Given the description of an element on the screen output the (x, y) to click on. 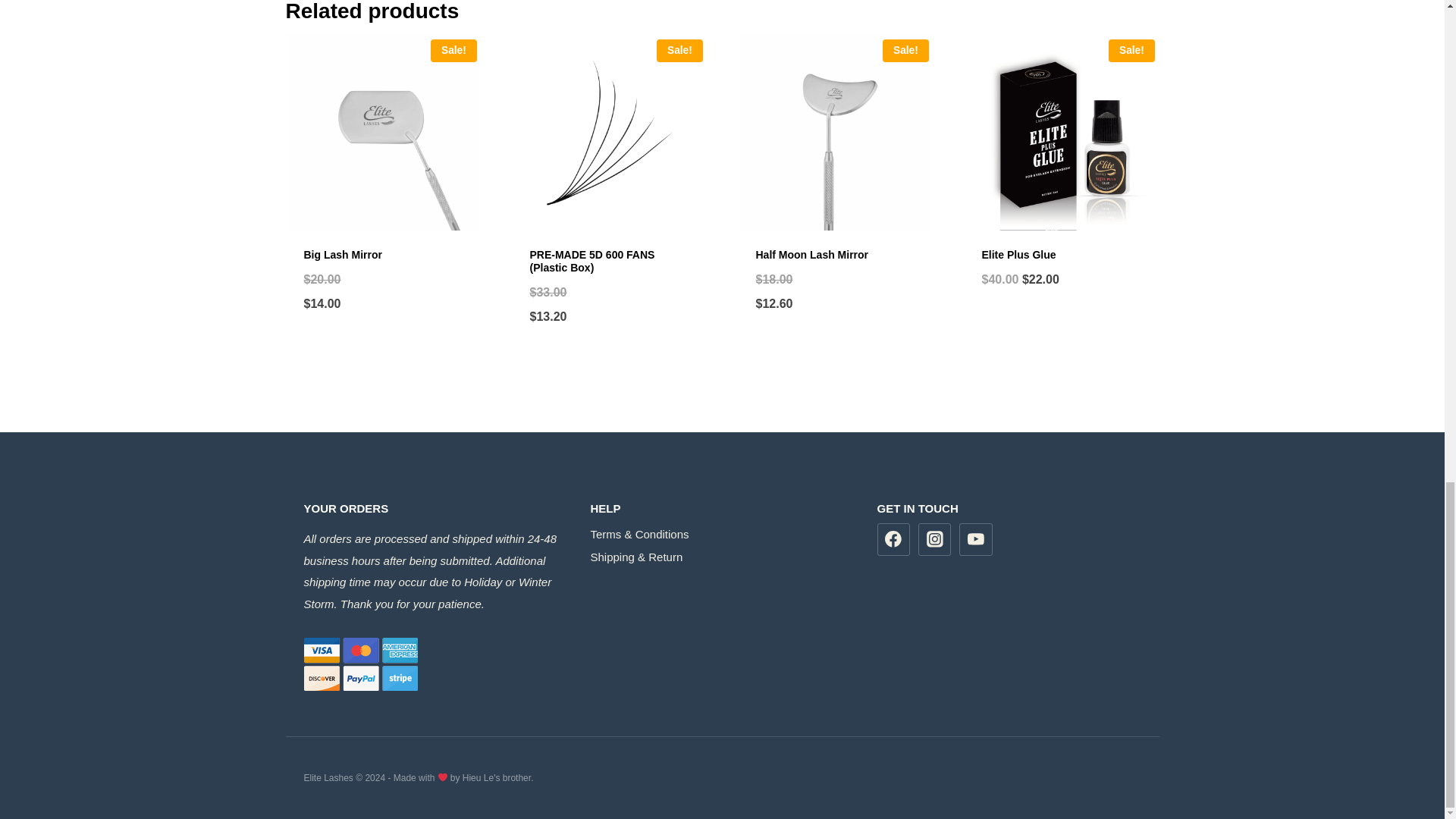
Sale! (1060, 132)
Big Lash Mirror (341, 254)
Sale! (608, 132)
Sale! (382, 132)
Sale! (834, 132)
Half Moon Lash Mirror (811, 254)
Elite Plus Glue (1018, 254)
